Given the description of an element on the screen output the (x, y) to click on. 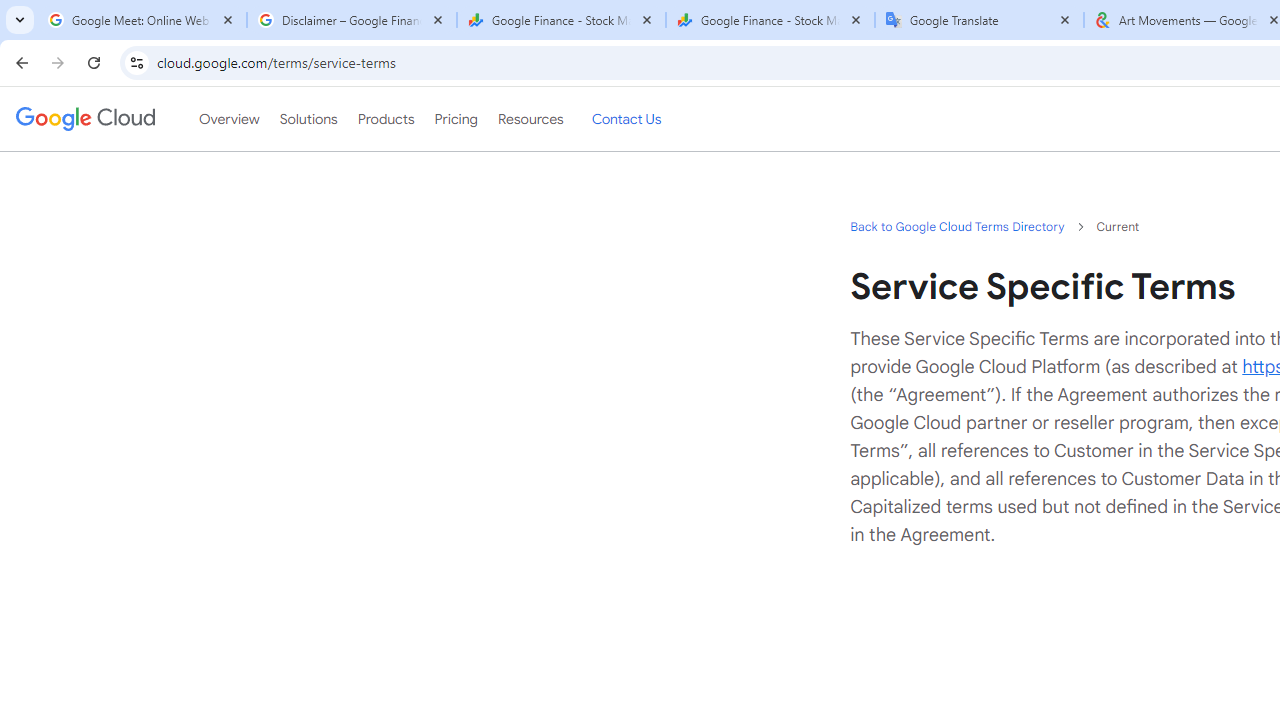
Close (1064, 19)
Overview (228, 119)
Back (19, 62)
Solutions (308, 119)
View site information (136, 62)
System (10, 11)
Google Cloud (84, 118)
System (10, 11)
Reload (93, 62)
Pricing (455, 119)
Contact Us (626, 119)
Products (385, 119)
Google Translate (979, 20)
